Given the description of an element on the screen output the (x, y) to click on. 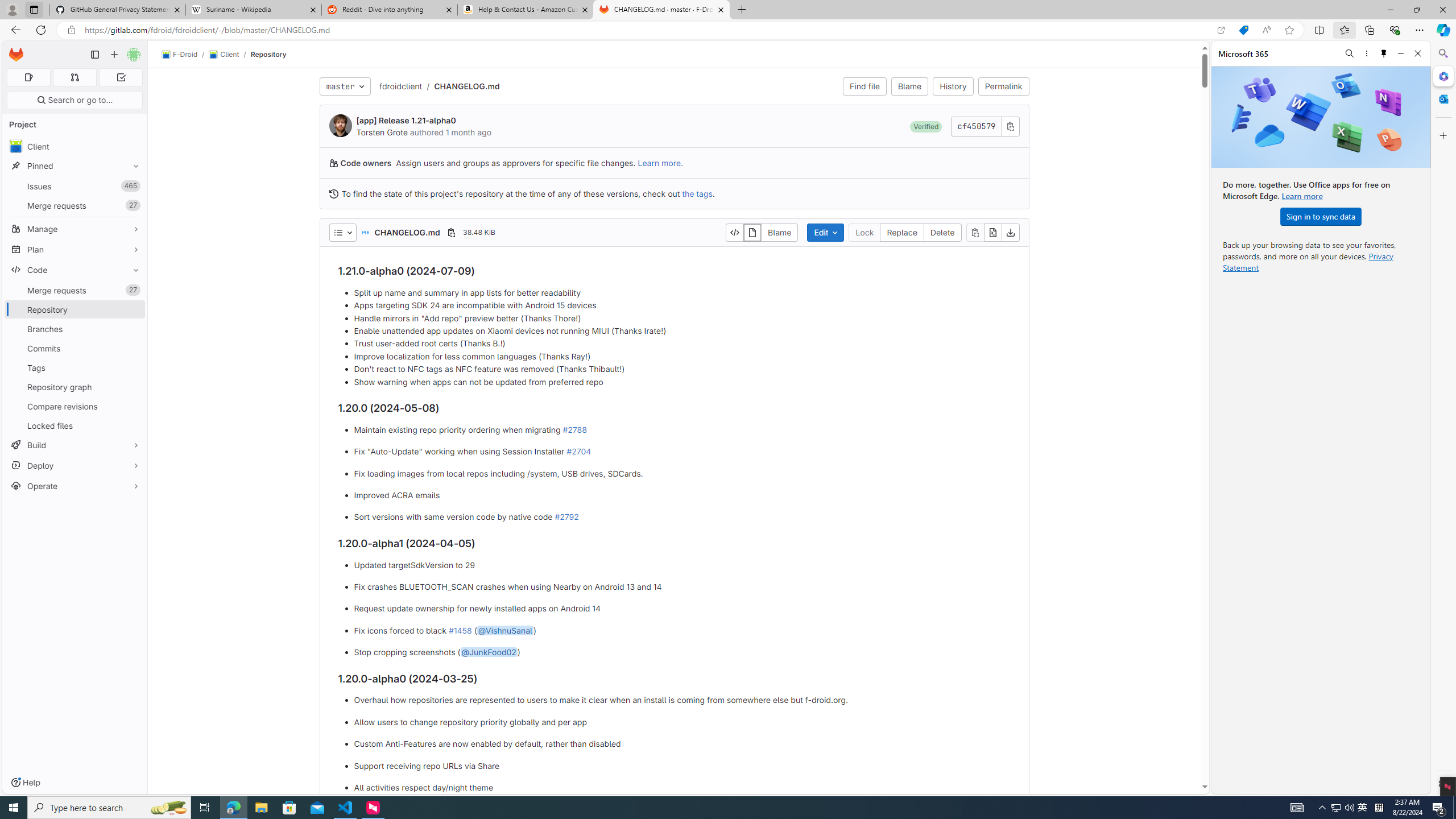
avatar (15, 146)
Compare revisions (74, 406)
Repository graph (74, 386)
Torsten Grote's avatar (340, 125)
Lock (864, 232)
Trust user-added root certs (Thanks B.!) (681, 343)
Pin Compare revisions (132, 406)
Suriname - Wikipedia (253, 9)
F-Droid (179, 54)
Unpin Issues (132, 186)
master (344, 85)
